Given the description of an element on the screen output the (x, y) to click on. 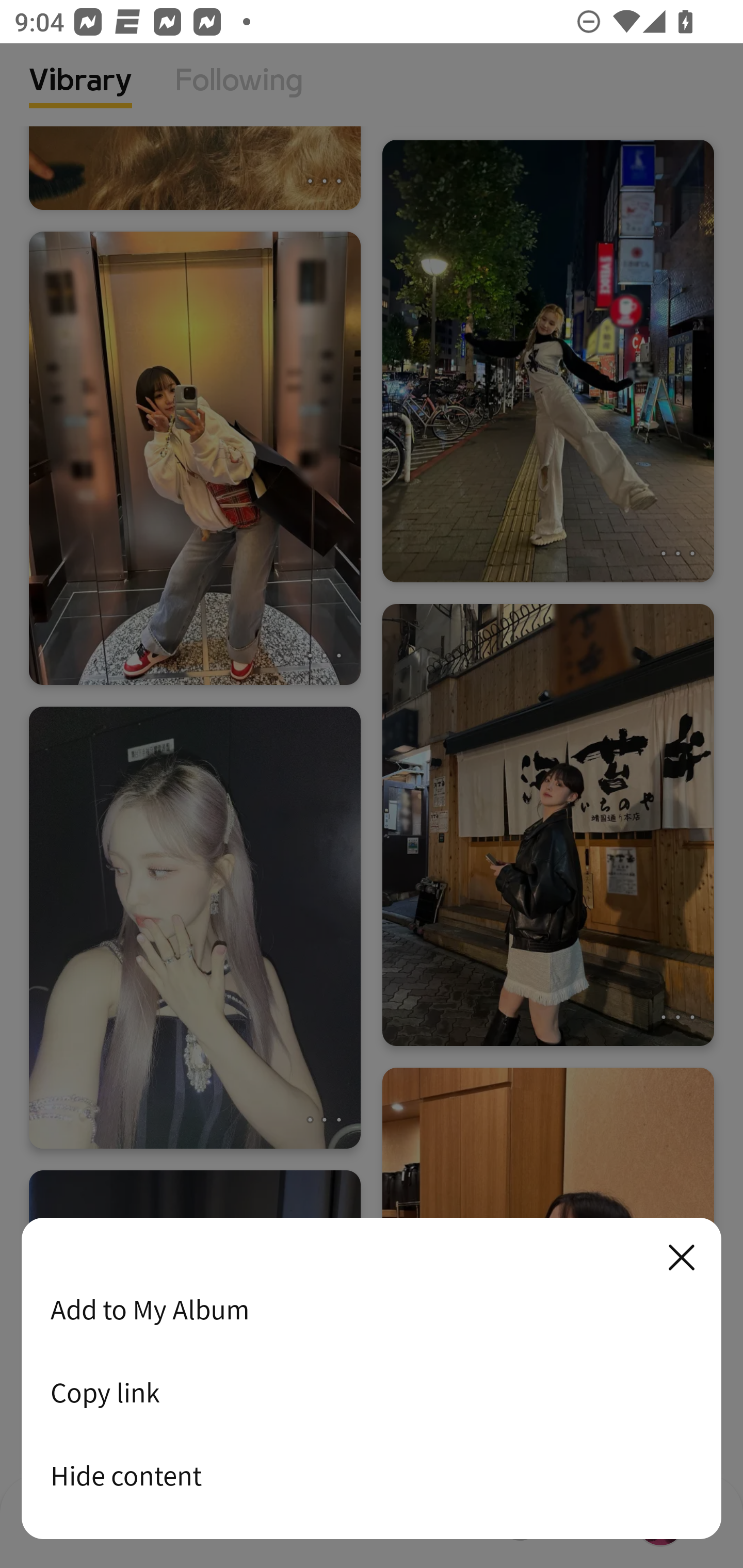
Add to My Album Copy link Hide content (371, 1378)
Add to My Album (371, 1308)
Copy link (371, 1391)
Hide content (371, 1474)
